Given the description of an element on the screen output the (x, y) to click on. 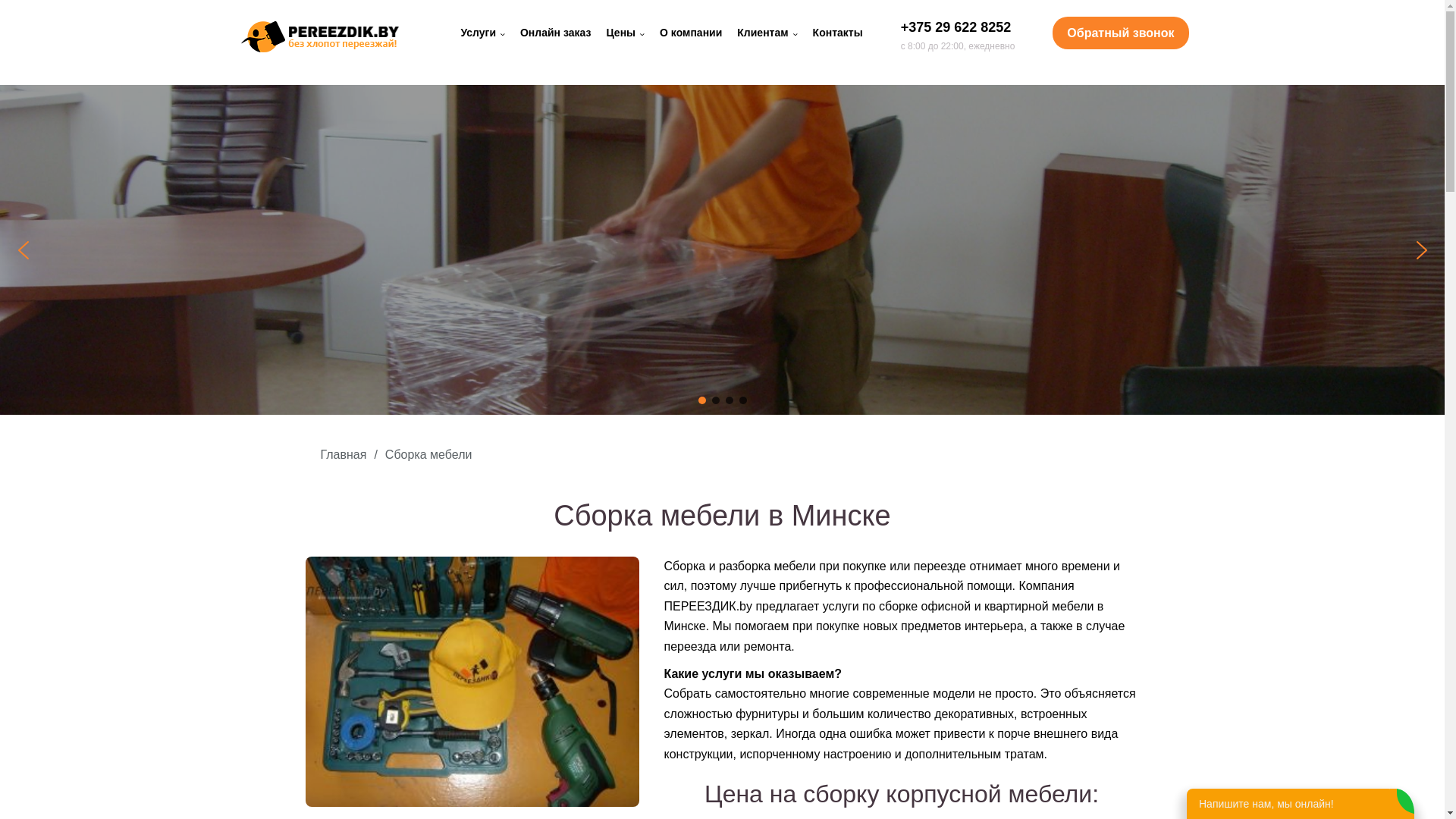
+375 29 622 8252 Element type: text (955, 26)
